Given the description of an element on the screen output the (x, y) to click on. 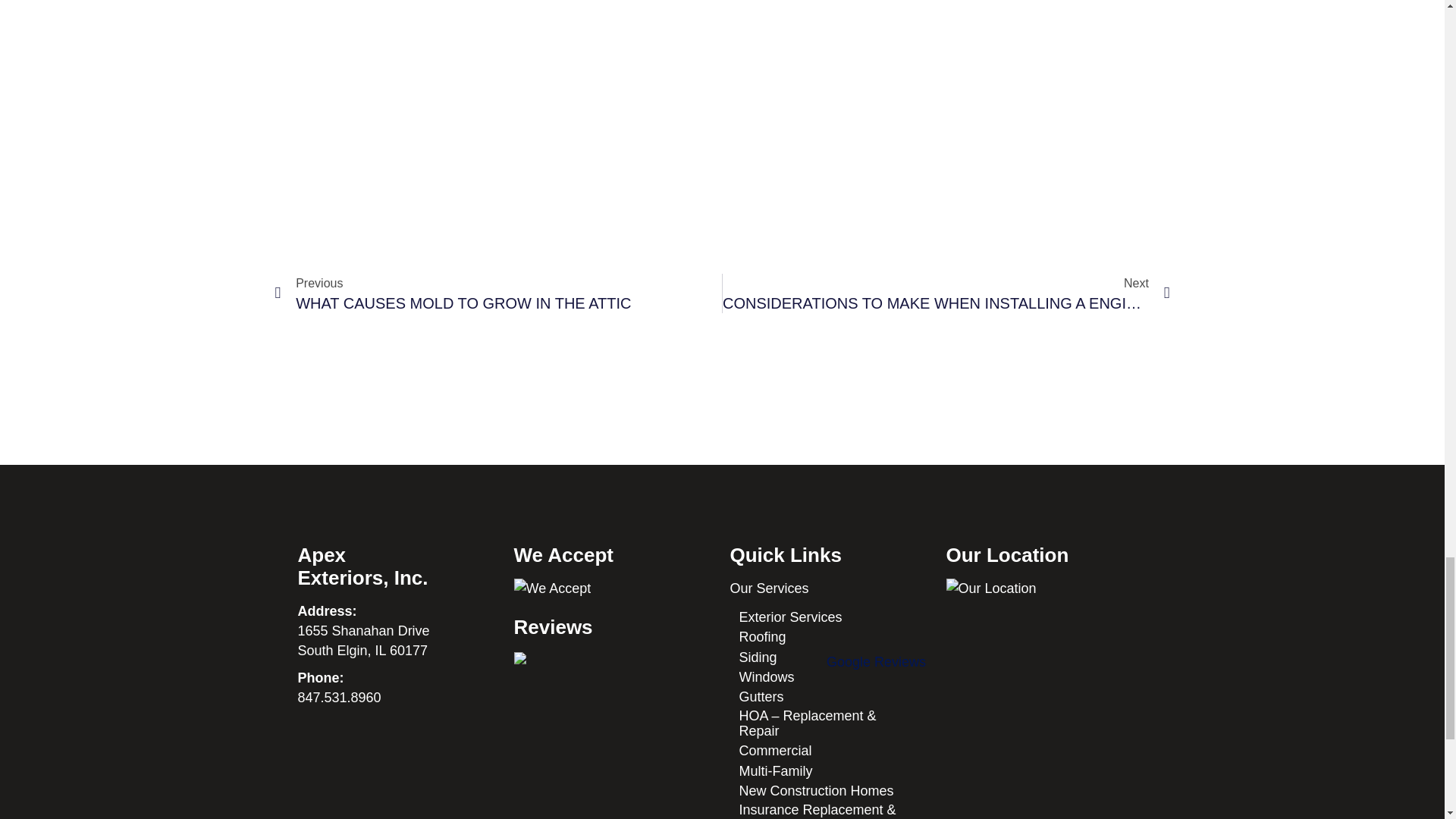
Google reviews (870, 735)
